Given the description of an element on the screen output the (x, y) to click on. 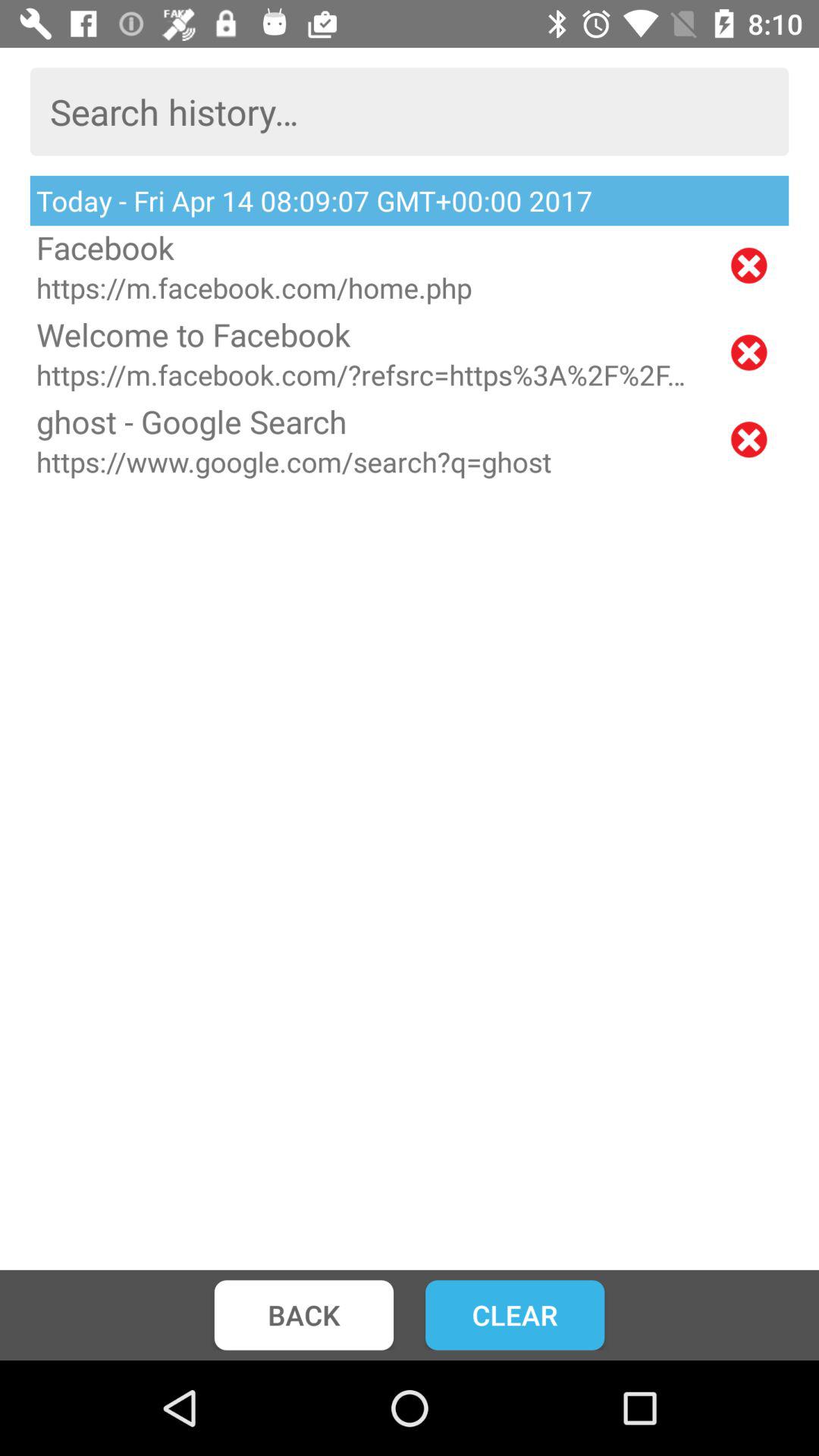
search history (409, 111)
